Given the description of an element on the screen output the (x, y) to click on. 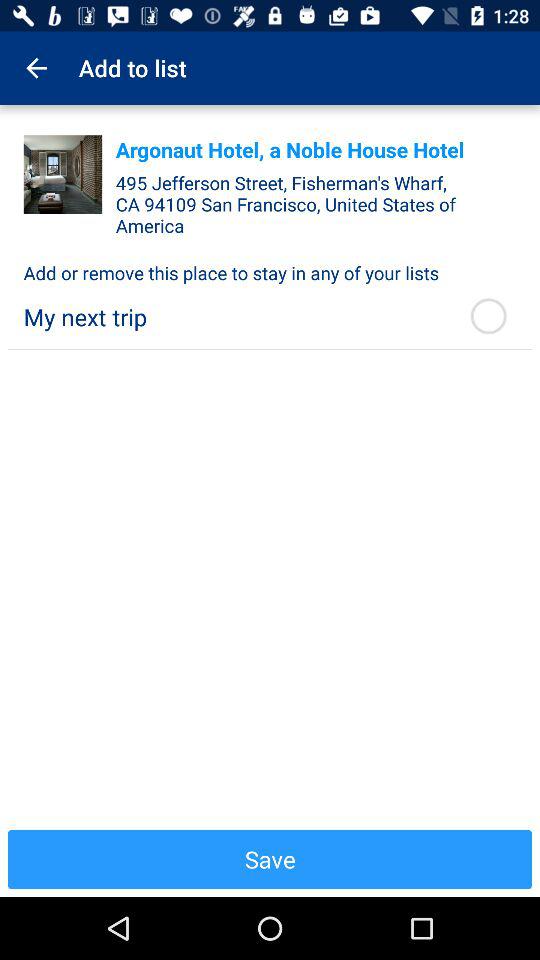
select item (62, 174)
